Given the description of an element on the screen output the (x, y) to click on. 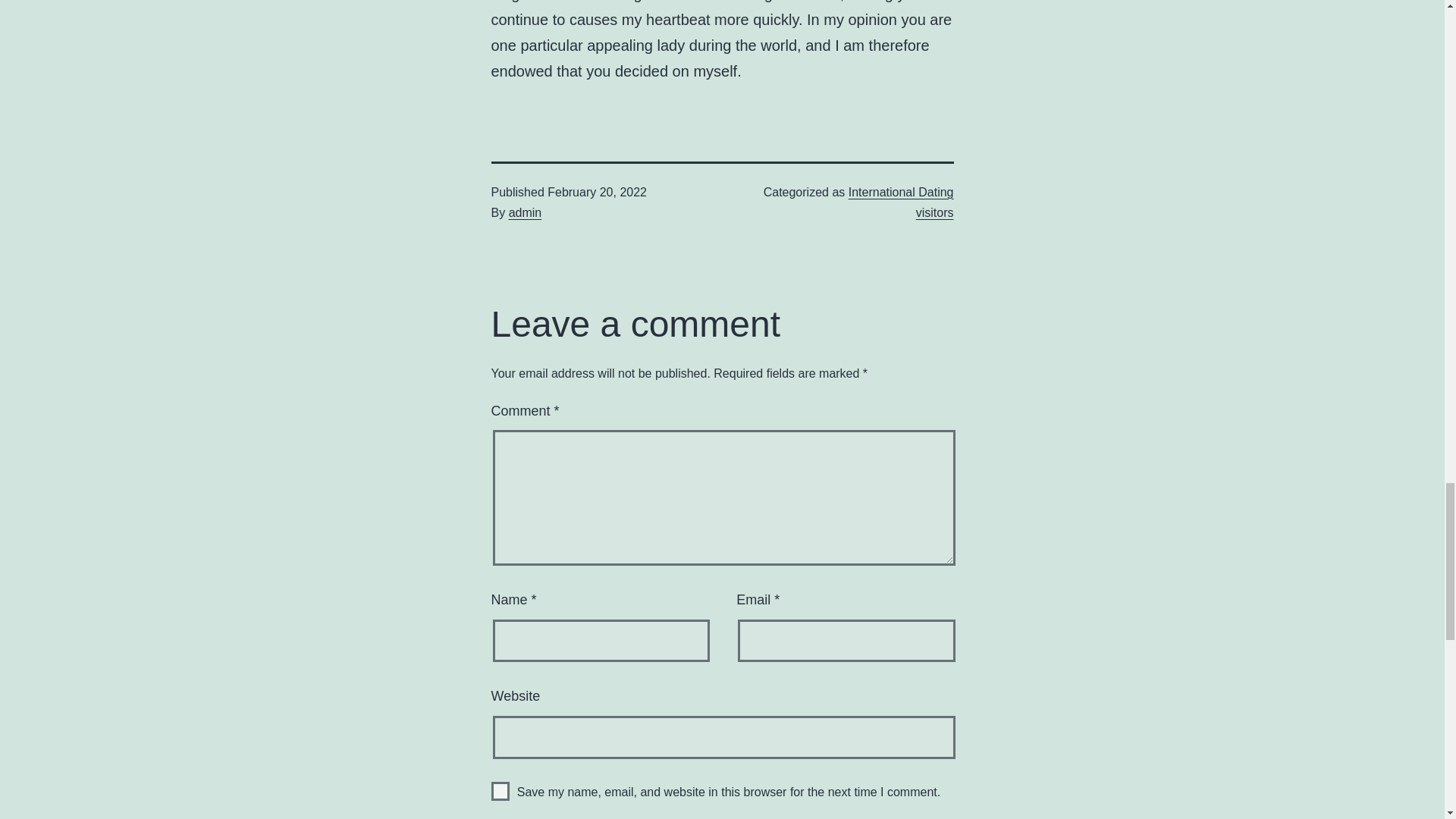
yes (500, 791)
admin (524, 212)
International Dating visitors (900, 202)
